Given the description of an element on the screen output the (x, y) to click on. 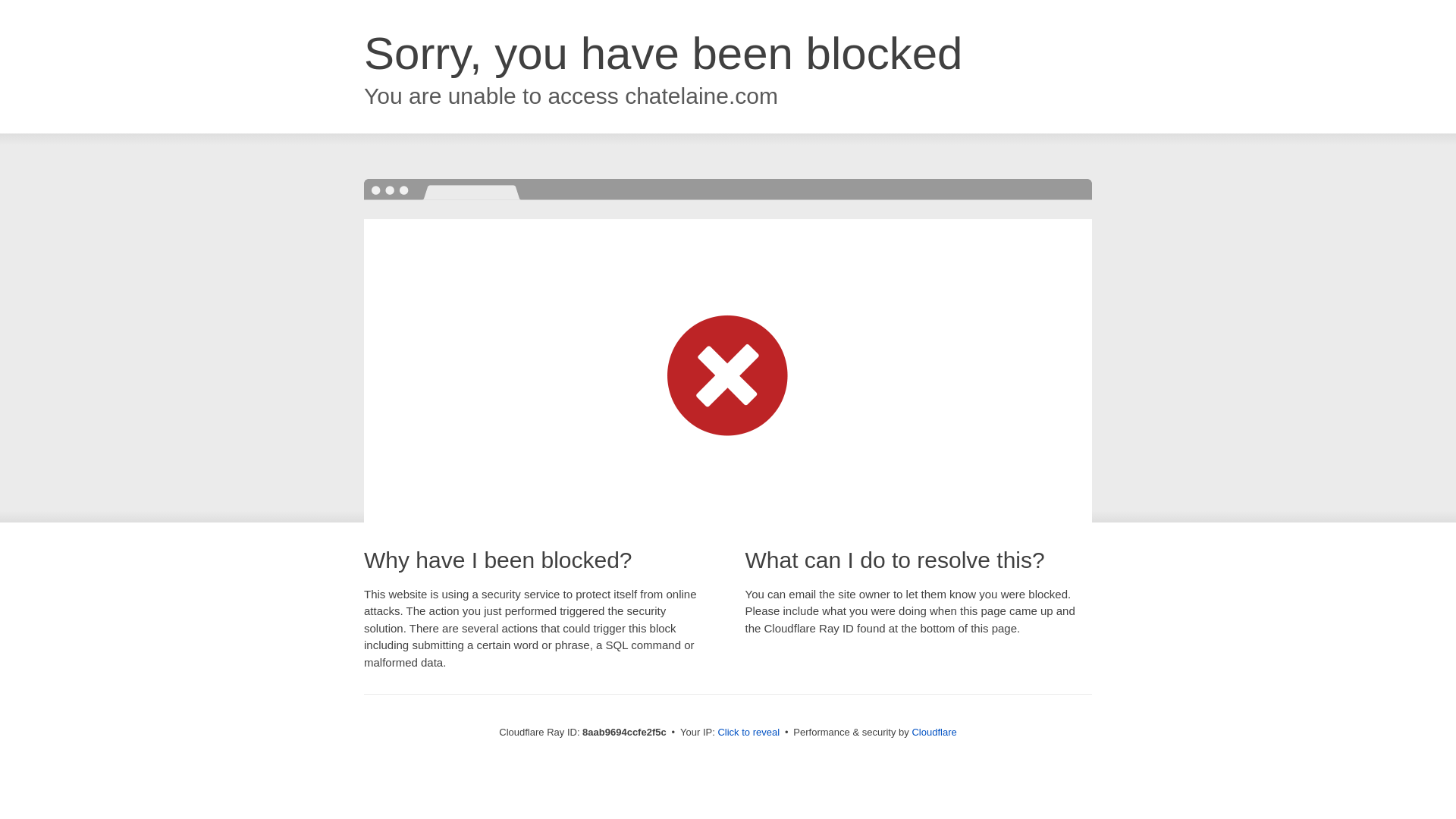
Click to reveal (747, 732)
Cloudflare (933, 731)
